Given the description of an element on the screen output the (x, y) to click on. 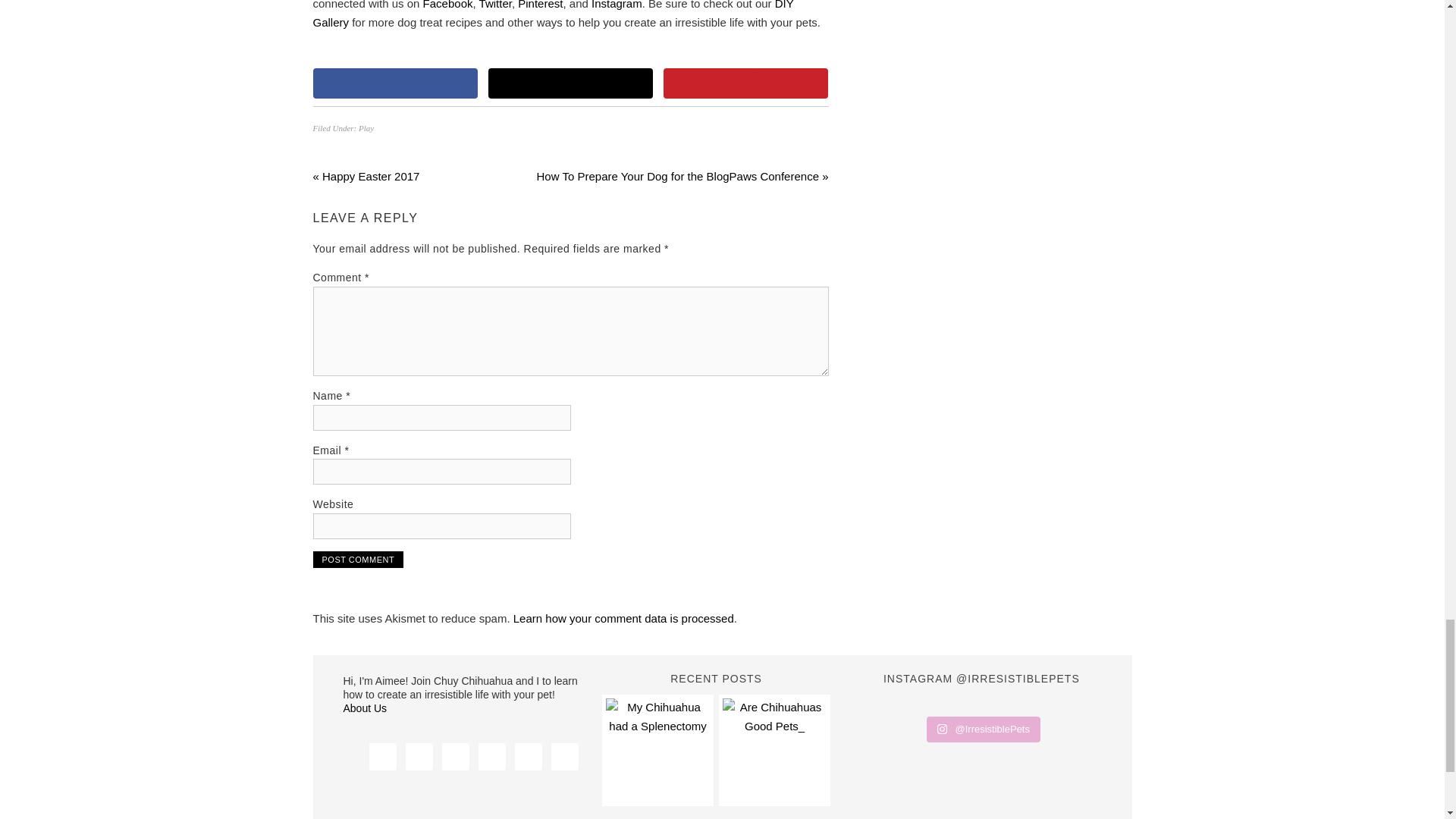
My Chihuahua Had a Splenectomy (657, 749)
Post Comment (358, 559)
Facebook (448, 4)
Twitter (495, 4)
Pinterest (540, 4)
Play (366, 127)
Learn how your comment data is processed (623, 617)
Instagram (616, 4)
Save to Pinterest (745, 82)
DIY Gallery (553, 13)
Share on Facebook (395, 82)
Share on X (570, 82)
Are Chihuahuas Good Pets? (773, 749)
Post Comment (358, 559)
